Given the description of an element on the screen output the (x, y) to click on. 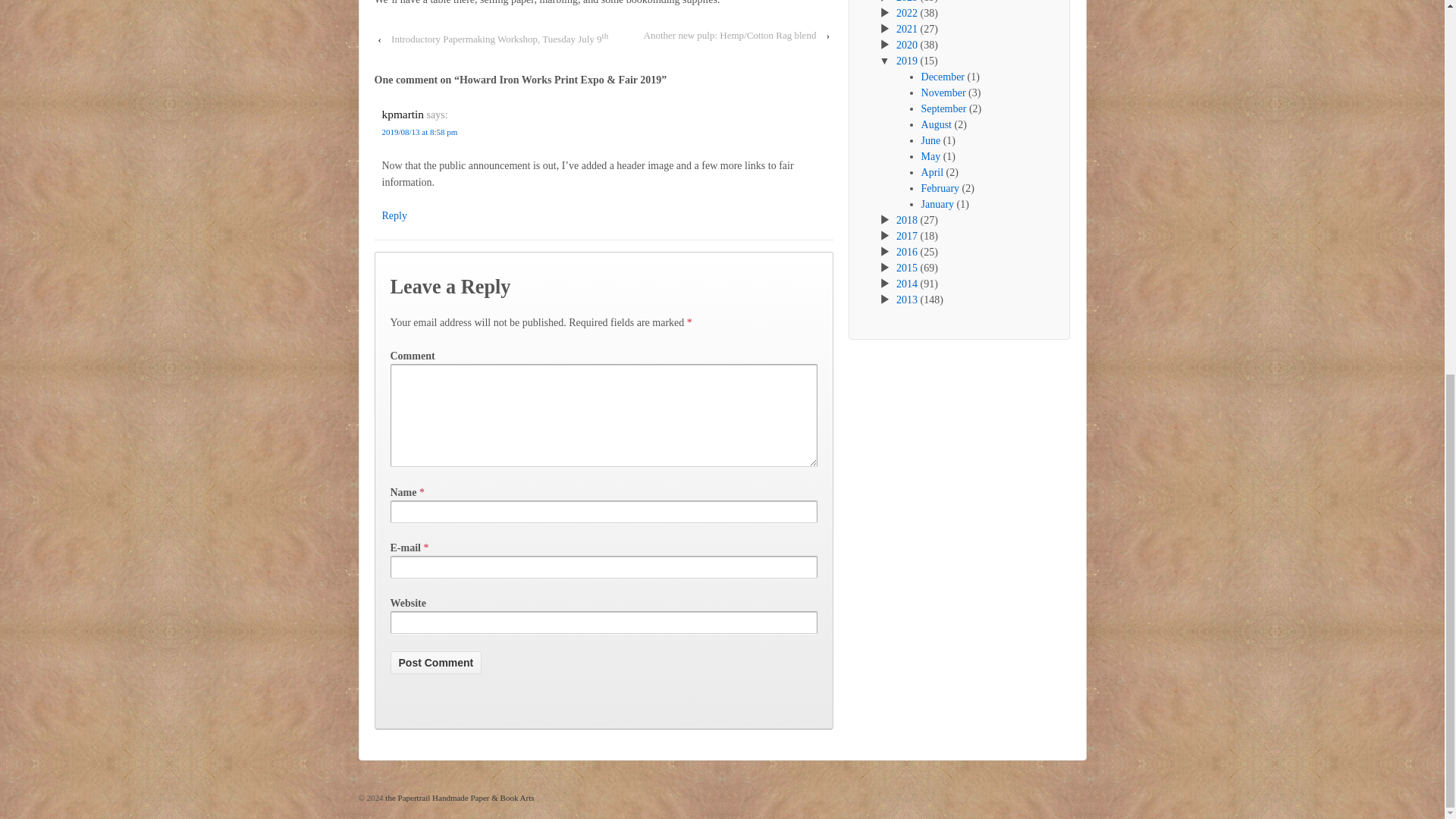
the Papertrail (459, 797)
Introductory Papermaking Workshop, Tuesday July 9th (499, 38)
Reply (394, 215)
Post Comment (435, 662)
Post Comment (435, 662)
